Given the description of an element on the screen output the (x, y) to click on. 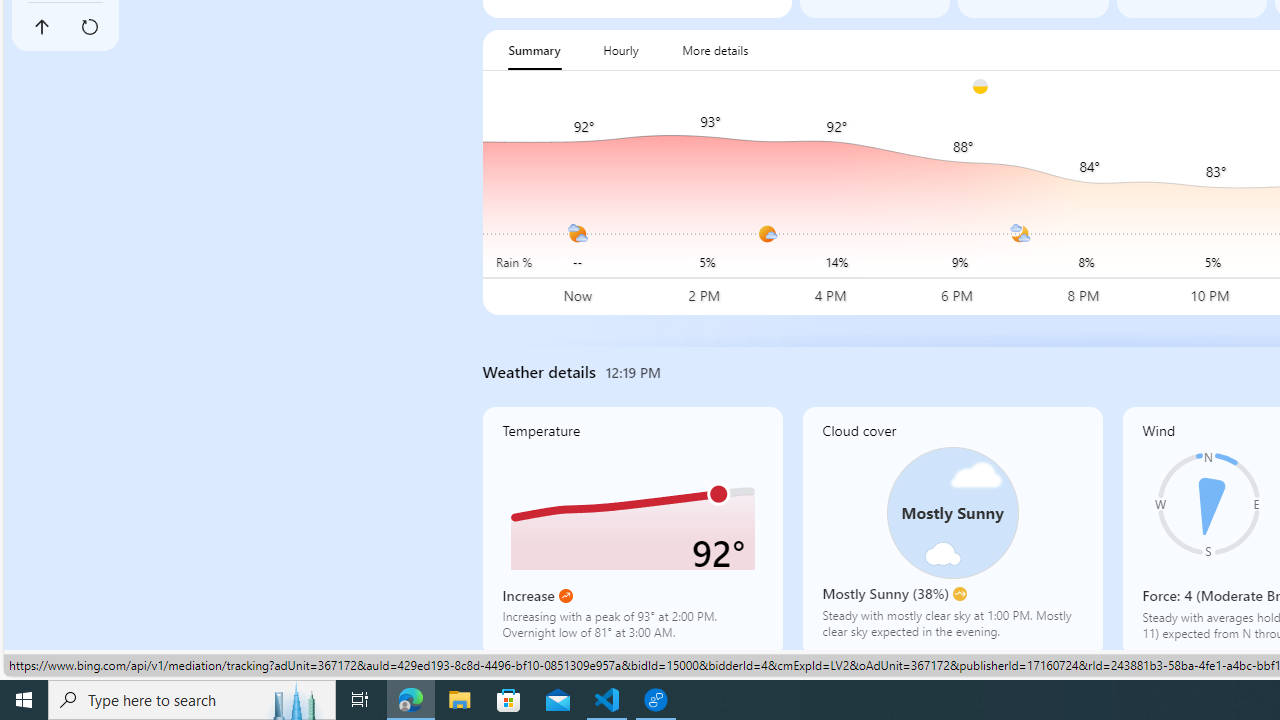
Class: cloudCoverSvg-DS-ps0R9q (951, 512)
Temperature (632, 531)
Increase (565, 595)
Cloud cover (952, 531)
Refresh this page (89, 26)
Hourly (620, 49)
Summary (534, 49)
Back to top (41, 26)
More details (715, 49)
